Given the description of an element on the screen output the (x, y) to click on. 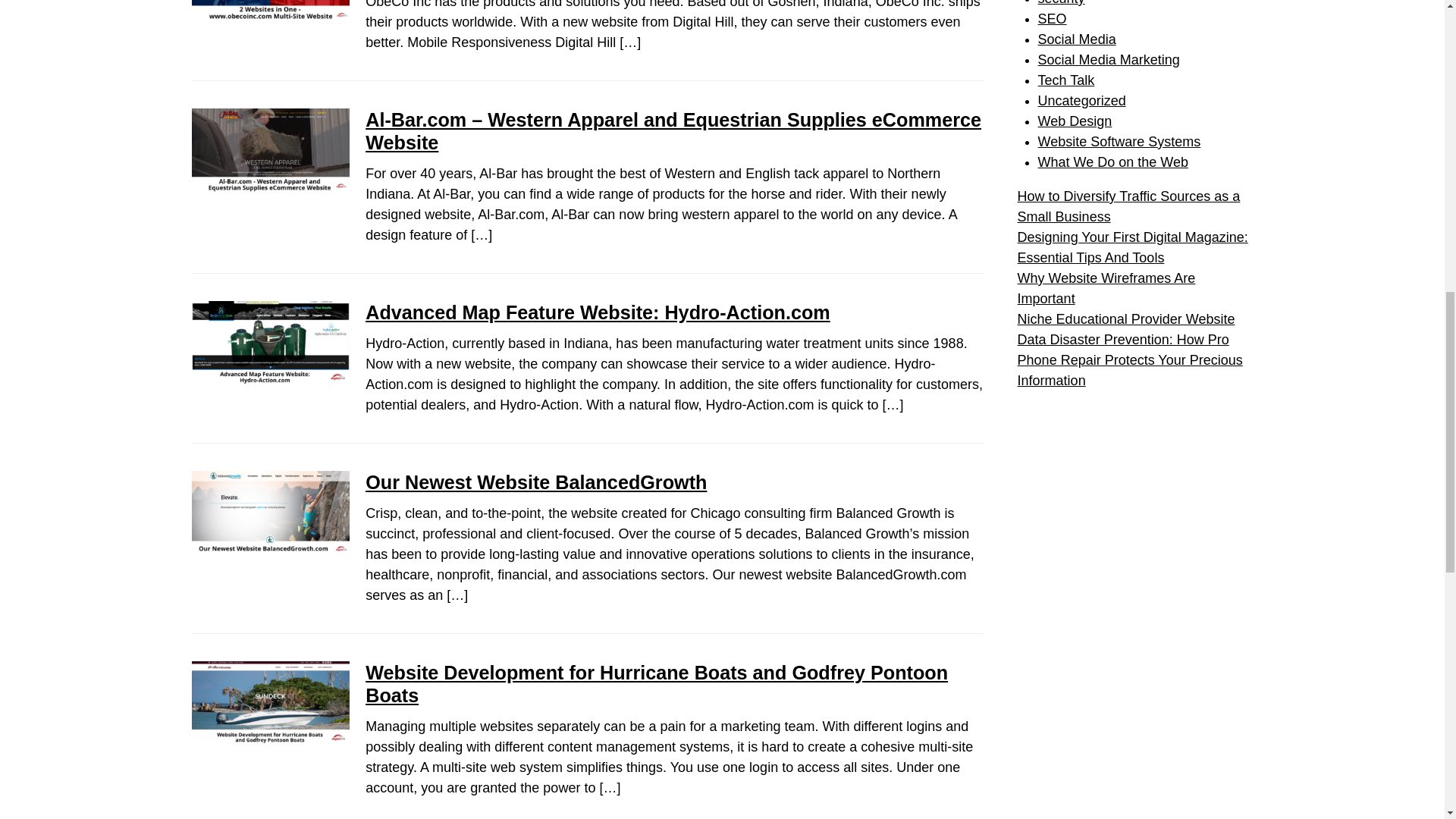
Our Newest Website BalancedGrowth (535, 482)
Advanced Map Feature Website: Hydro-Action.com (597, 312)
